Given the description of an element on the screen output the (x, y) to click on. 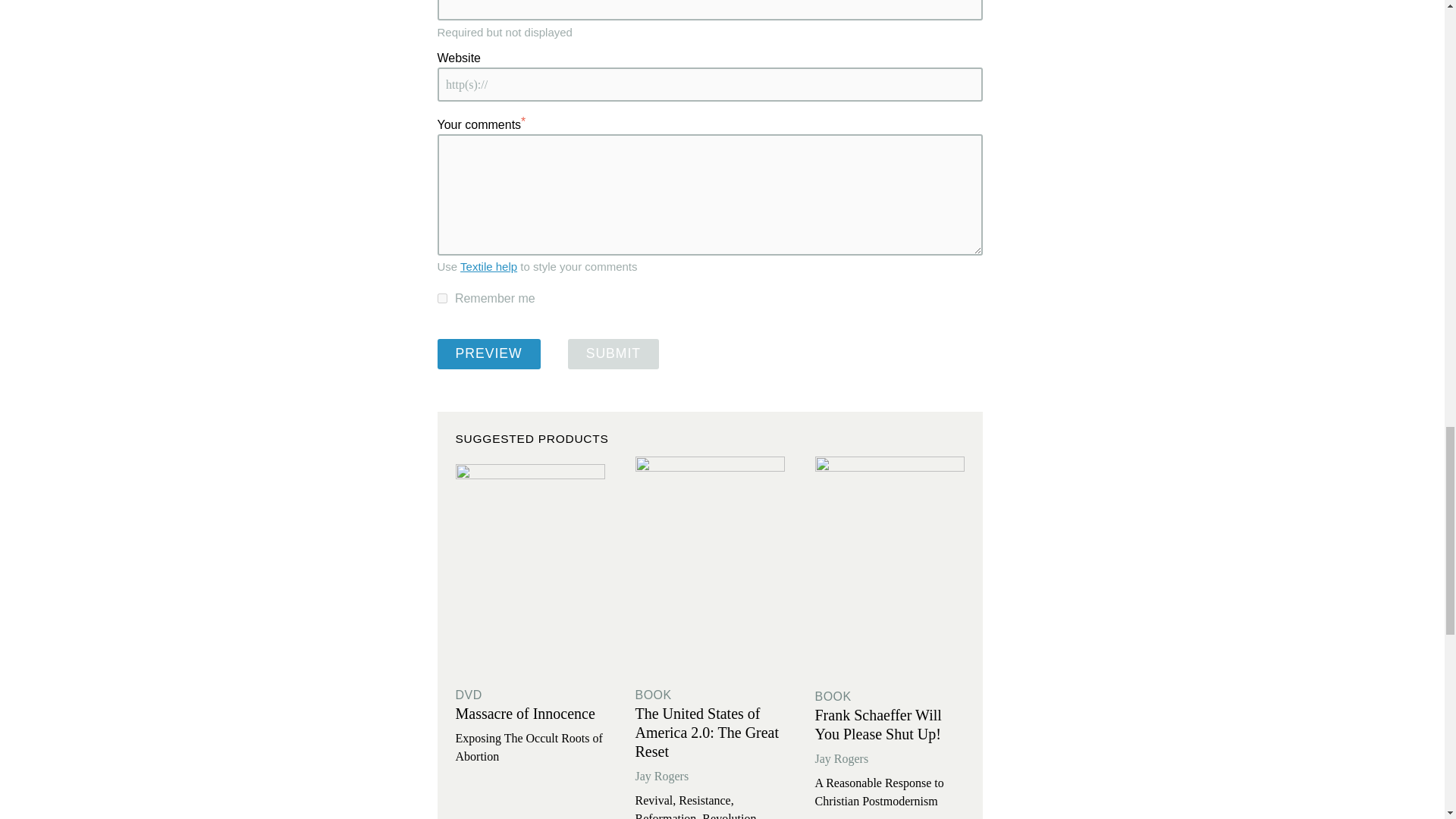
1 (441, 298)
Preview (488, 354)
The United States of America 2.0: The Great Reset (706, 732)
Preview (488, 354)
Frank Schaeffer Will You Please Shut Up! (876, 724)
Read more (709, 568)
Read more (529, 568)
Submit (613, 354)
Read more (888, 568)
Submit (613, 354)
Massacre of Innocence (524, 713)
Textile help (488, 266)
